Given the description of an element on the screen output the (x, y) to click on. 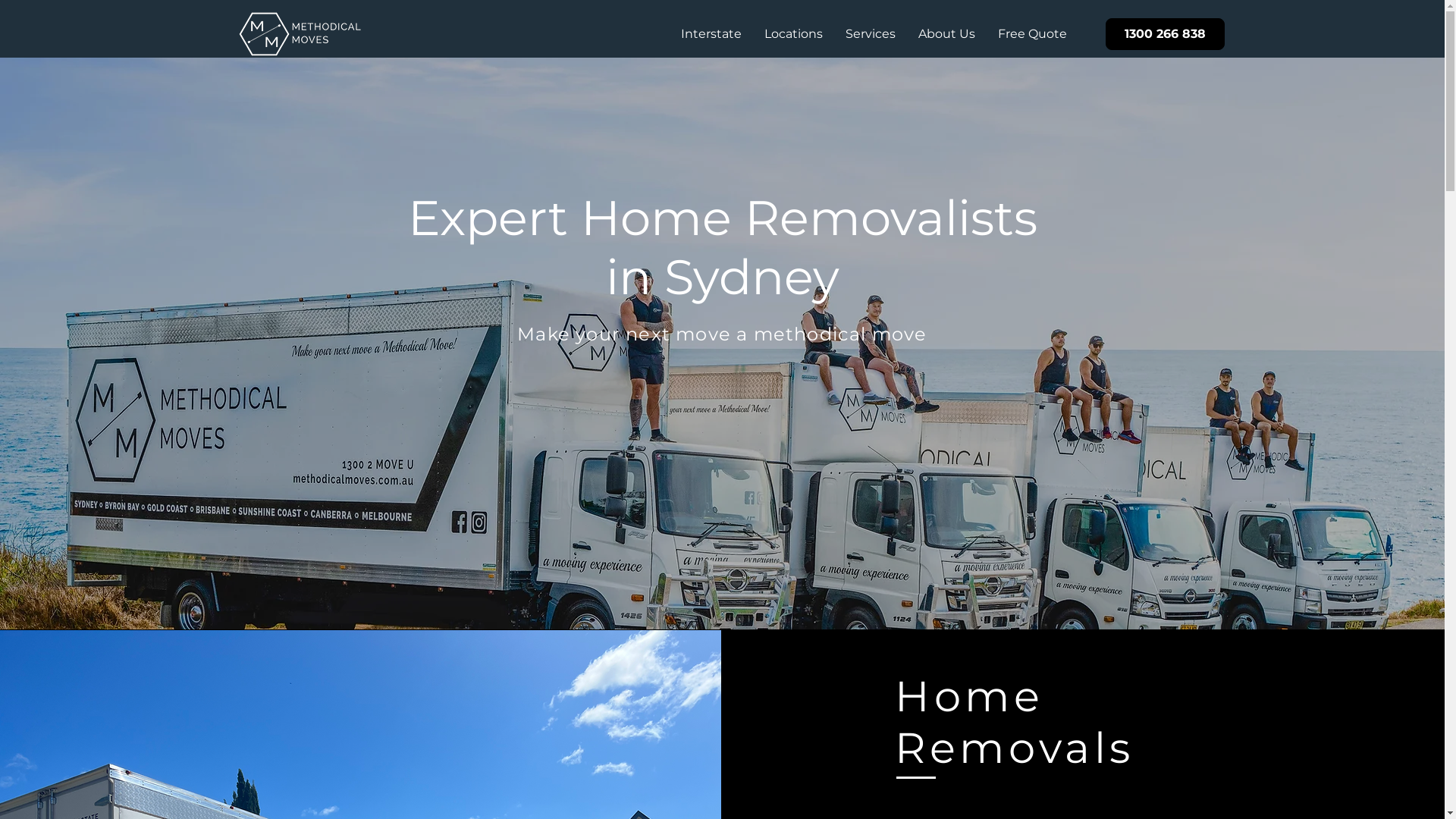
Free Quote Element type: text (1031, 34)
About Us Element type: text (946, 34)
Services Element type: text (870, 34)
Locations Element type: text (792, 34)
1300 266 838 Element type: text (1164, 34)
Interstate Element type: text (710, 34)
